Given the description of an element on the screen output the (x, y) to click on. 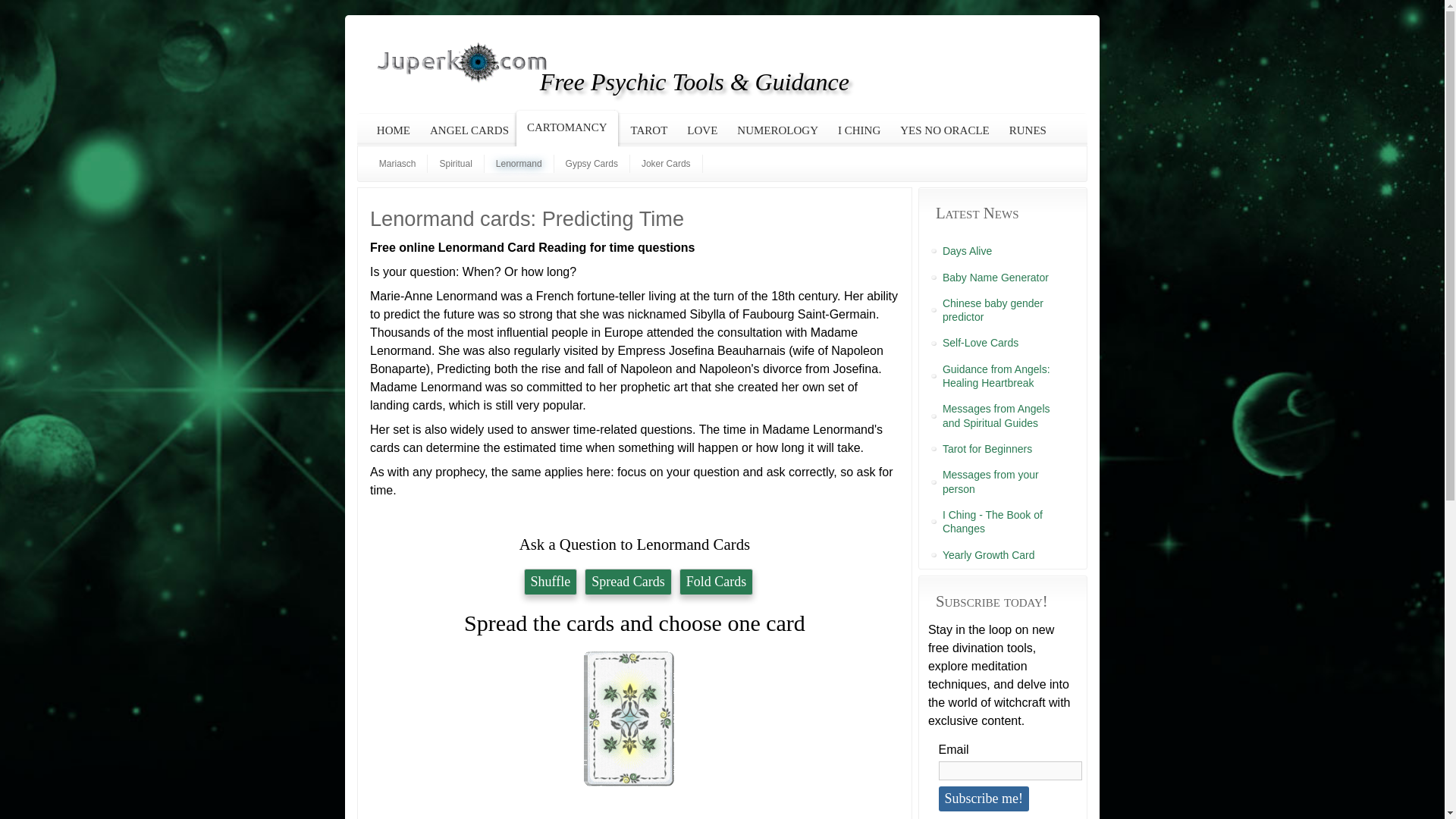
Gypsy Cards (592, 163)
Guidance from Angels: Healing Heartbreak (1002, 376)
CARTOMANCY (563, 127)
Fold Cards (716, 581)
Days Alive (1002, 250)
Tarot for beginners (1002, 448)
I CHING (858, 130)
Chinese baby gender predictor (1002, 309)
HOME (392, 130)
Juperko Fortune Teller (462, 62)
